Given the description of an element on the screen output the (x, y) to click on. 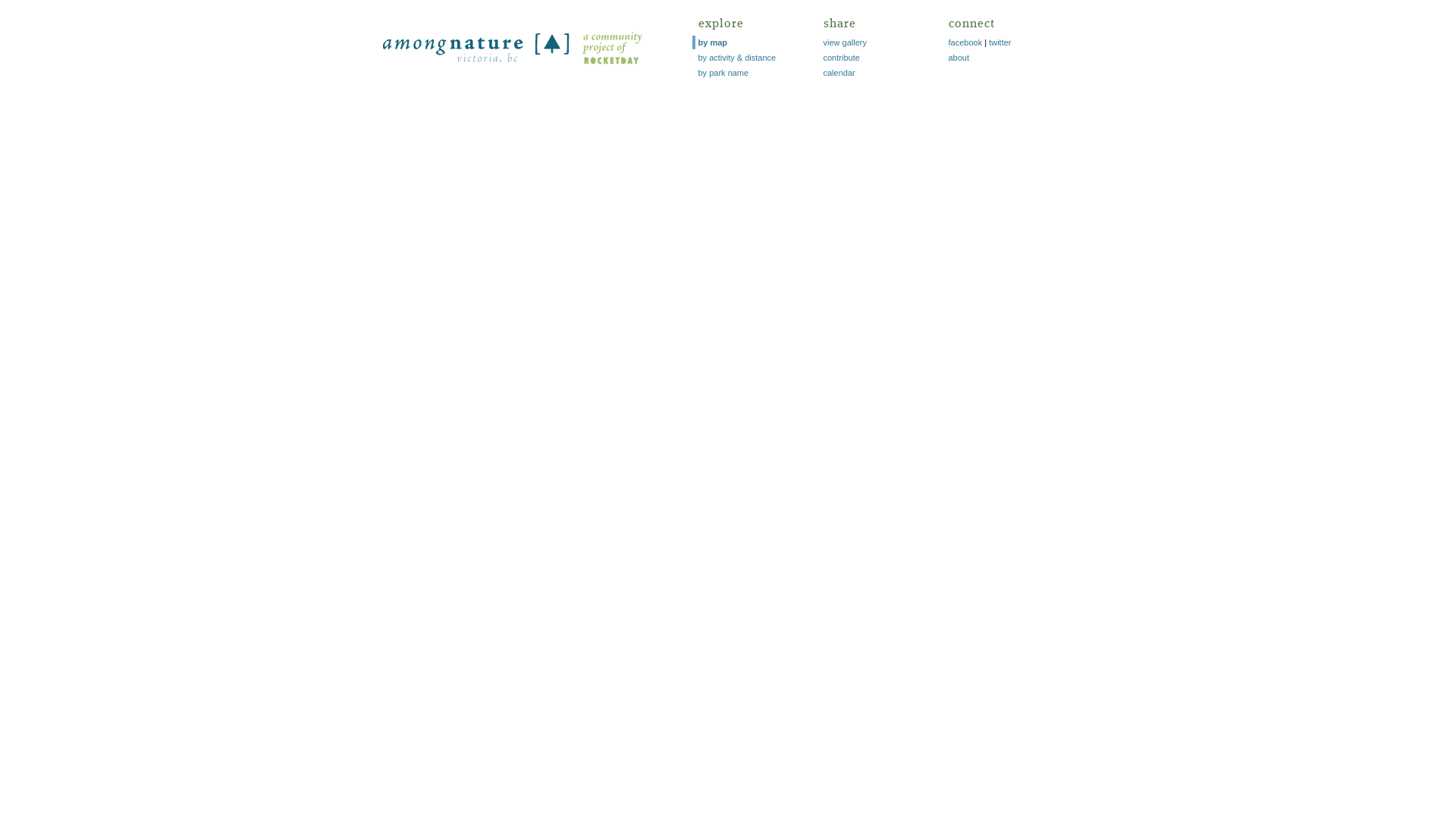
by map Element type: text (712, 42)
contribute Element type: text (841, 57)
facebook Element type: text (964, 42)
twitter Element type: text (999, 42)
about Element type: text (958, 57)
calendar Element type: text (839, 72)
by activity & distance Element type: text (736, 57)
view gallery Element type: text (844, 42)
by park name Element type: text (722, 72)
